Given the description of an element on the screen output the (x, y) to click on. 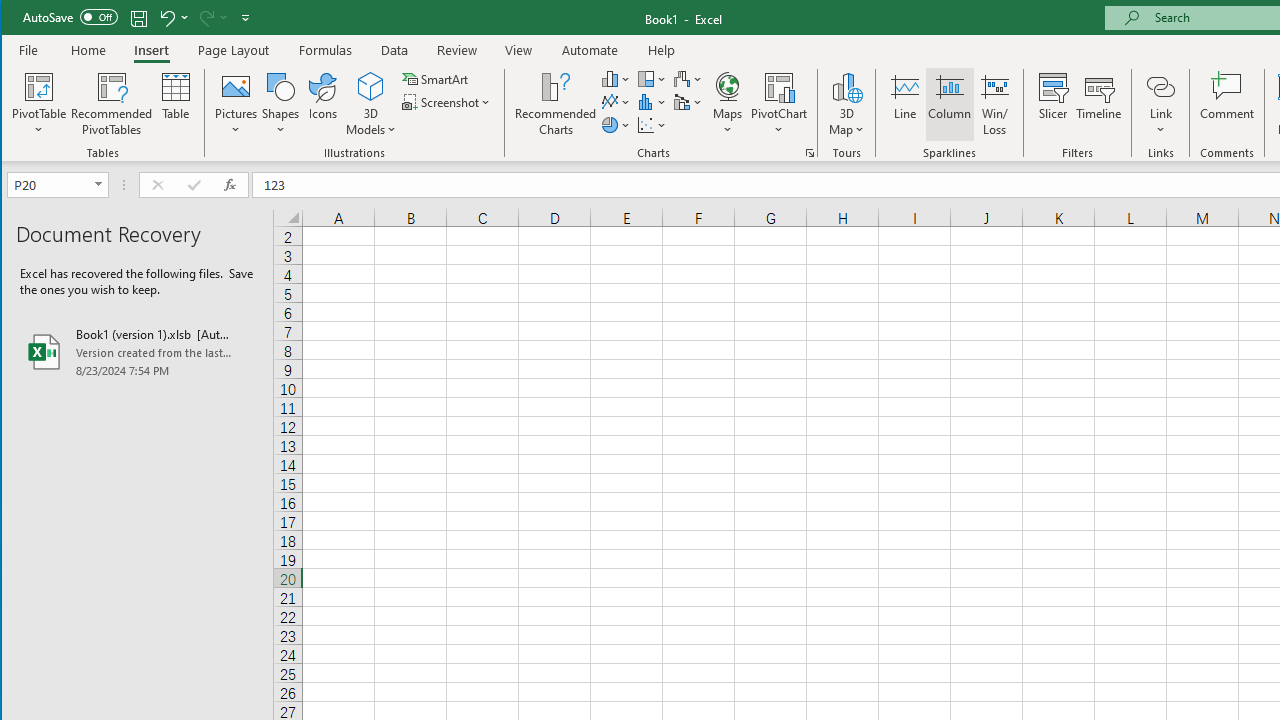
Link (1160, 86)
Column (949, 104)
PivotTable (39, 104)
Insert Hierarchy Chart (652, 78)
Insert Line or Area Chart (616, 101)
3D Map (846, 104)
Slicer... (1052, 104)
